Given the description of an element on the screen output the (x, y) to click on. 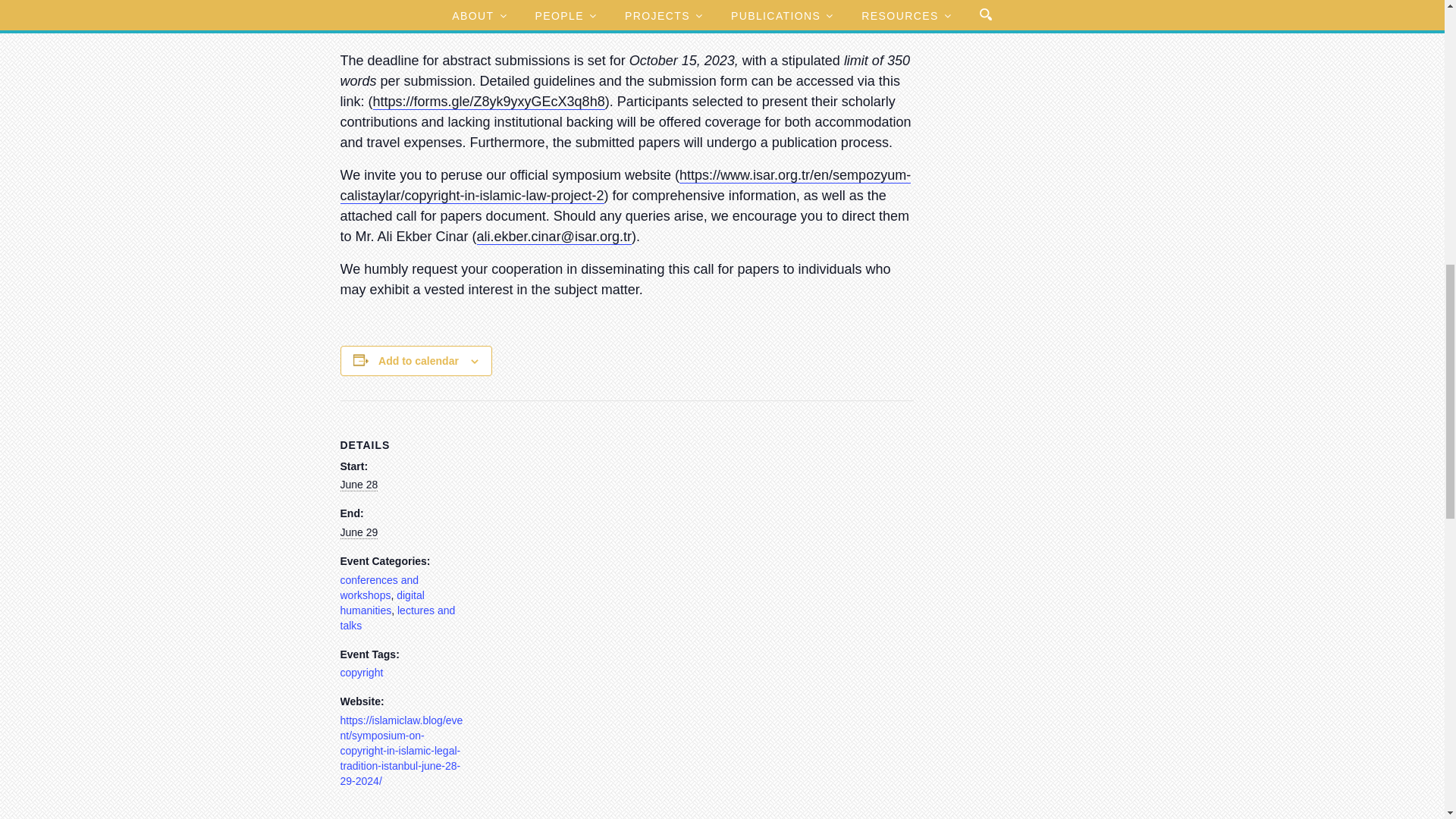
2024-06-28 (358, 484)
2024-06-29 (358, 532)
